Given the description of an element on the screen output the (x, y) to click on. 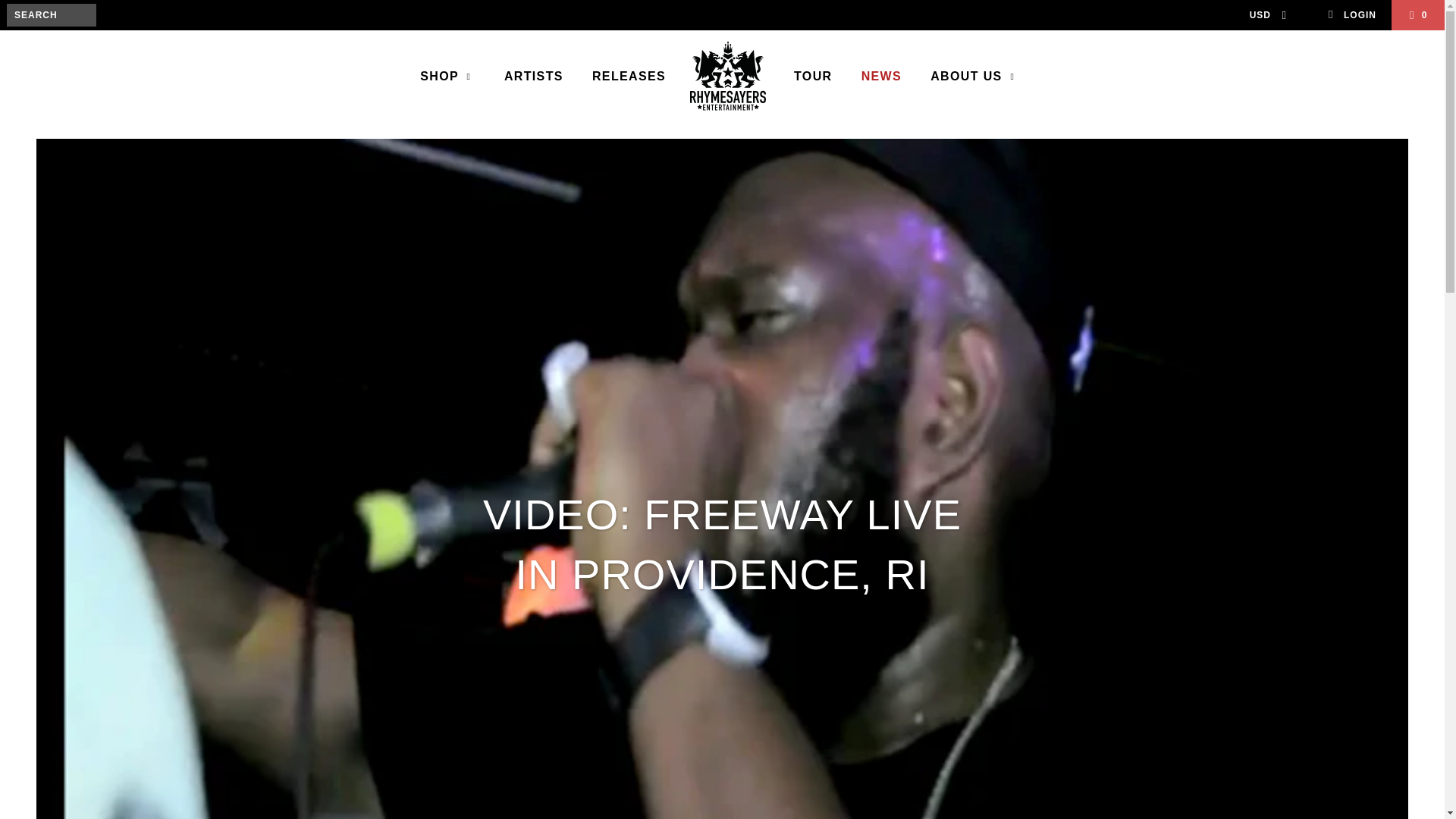
Search (62, 35)
USD (1263, 15)
My Account  (1351, 15)
Rhymesayers Entertainment  (727, 76)
